Given the description of an element on the screen output the (x, y) to click on. 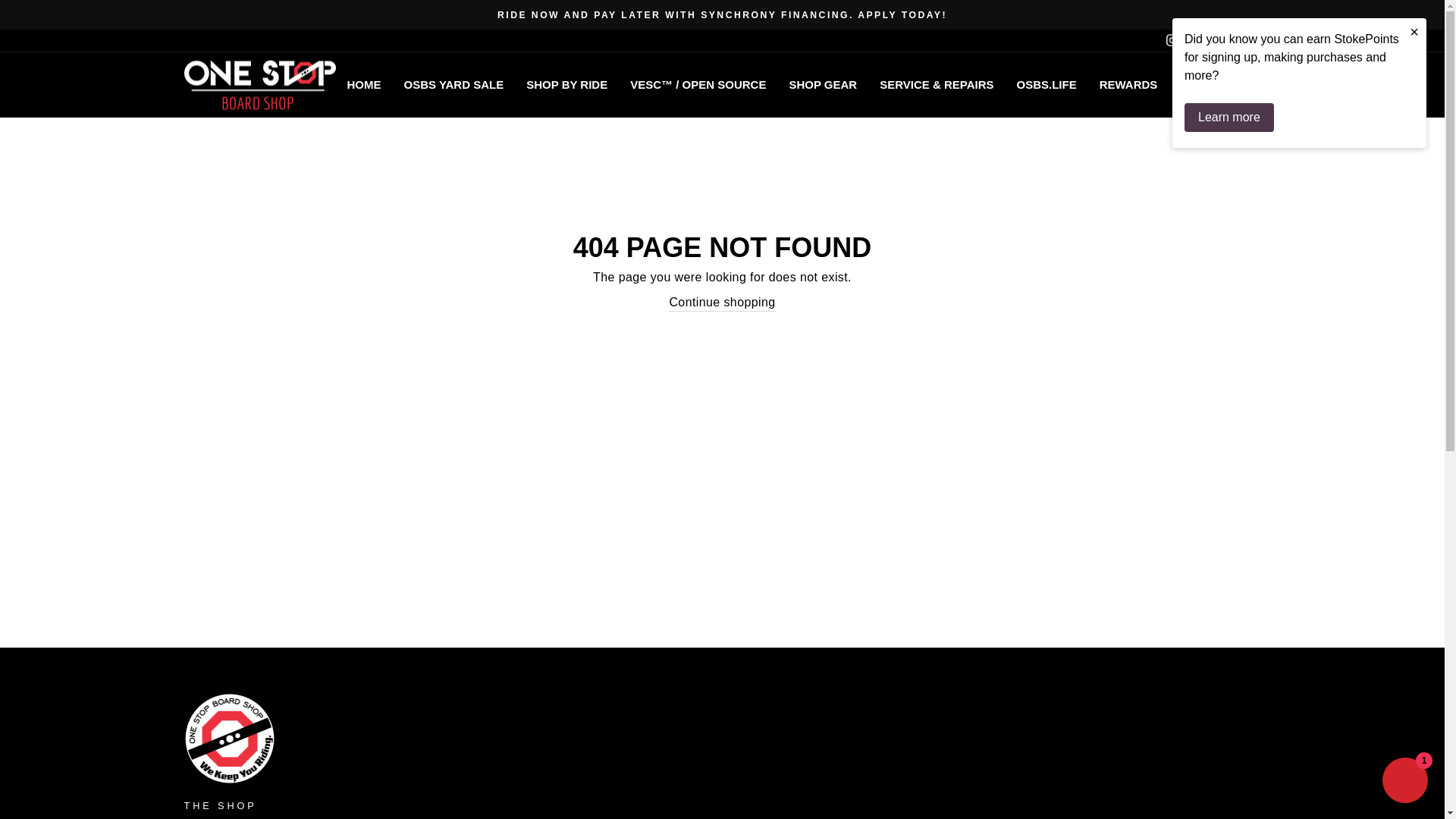
One Stop Board Shop on YouTube (1211, 40)
One Stop Board Shop on Twitter (1230, 40)
One Stop Board Shop on Facebook (1190, 40)
One Stop Board Shop on Instagram (1170, 40)
One Stop Board Shop on TikTok (1250, 40)
